Given the description of an element on the screen output the (x, y) to click on. 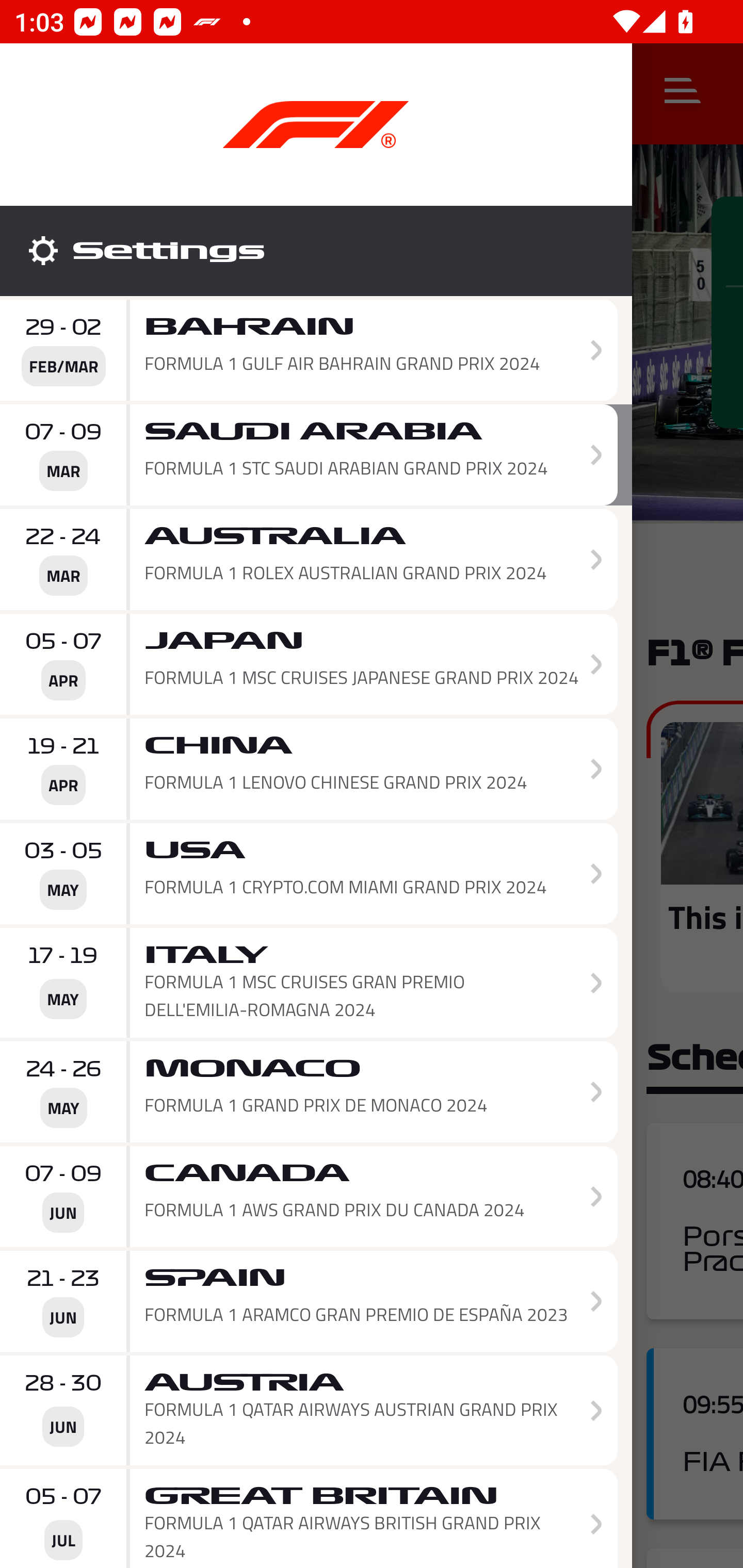
Settings (316, 250)
